Given the description of an element on the screen output the (x, y) to click on. 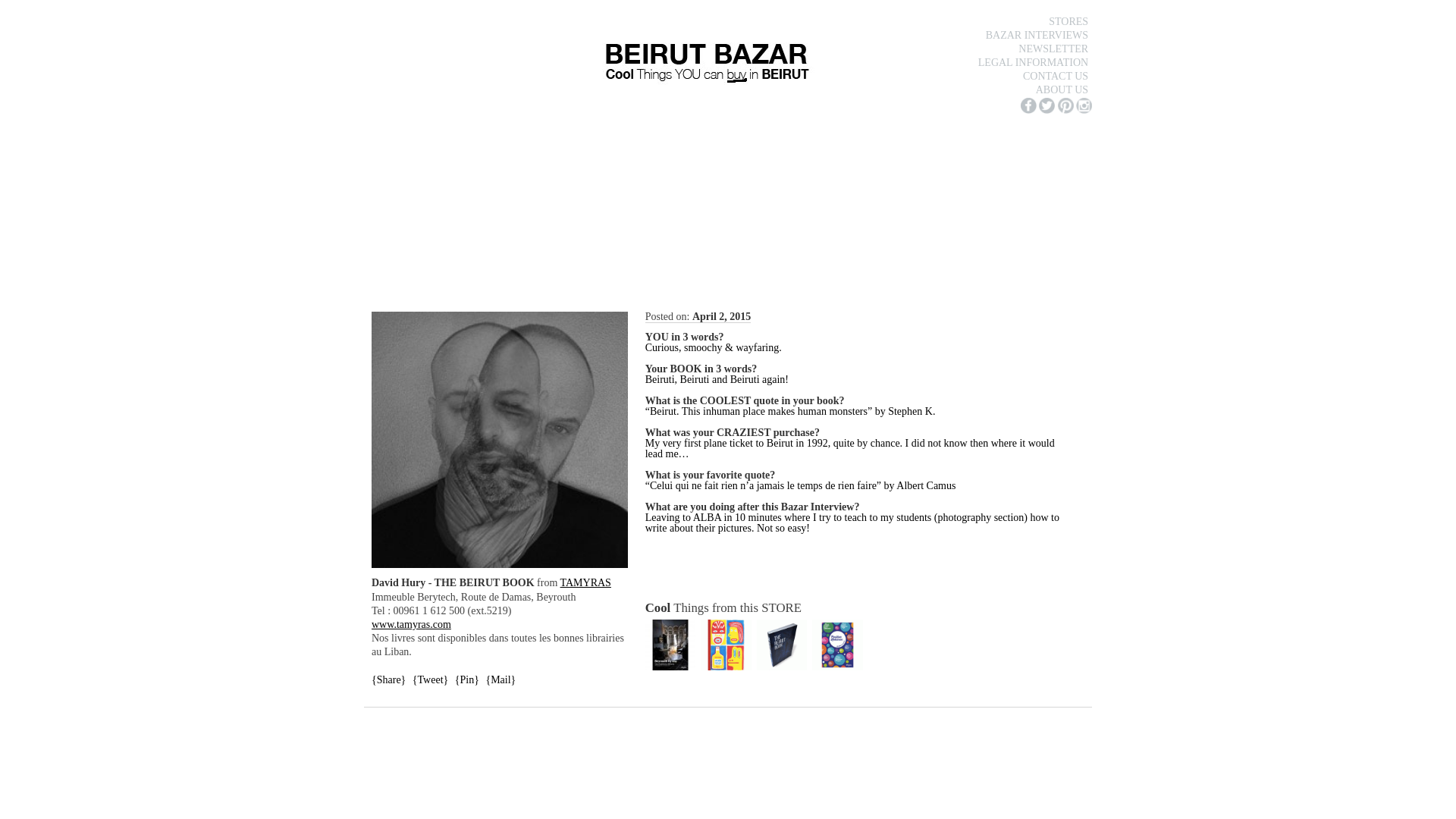
TAMYRAS (585, 582)
ABOUT US (1062, 89)
www.tamyras.com (411, 624)
STORES (1068, 21)
CONTACT US (1055, 75)
LEGAL INFORMATION (1033, 62)
BAZAR INTERVIEWS (1036, 34)
NEWSLETTER (1053, 48)
